Given the description of an element on the screen output the (x, y) to click on. 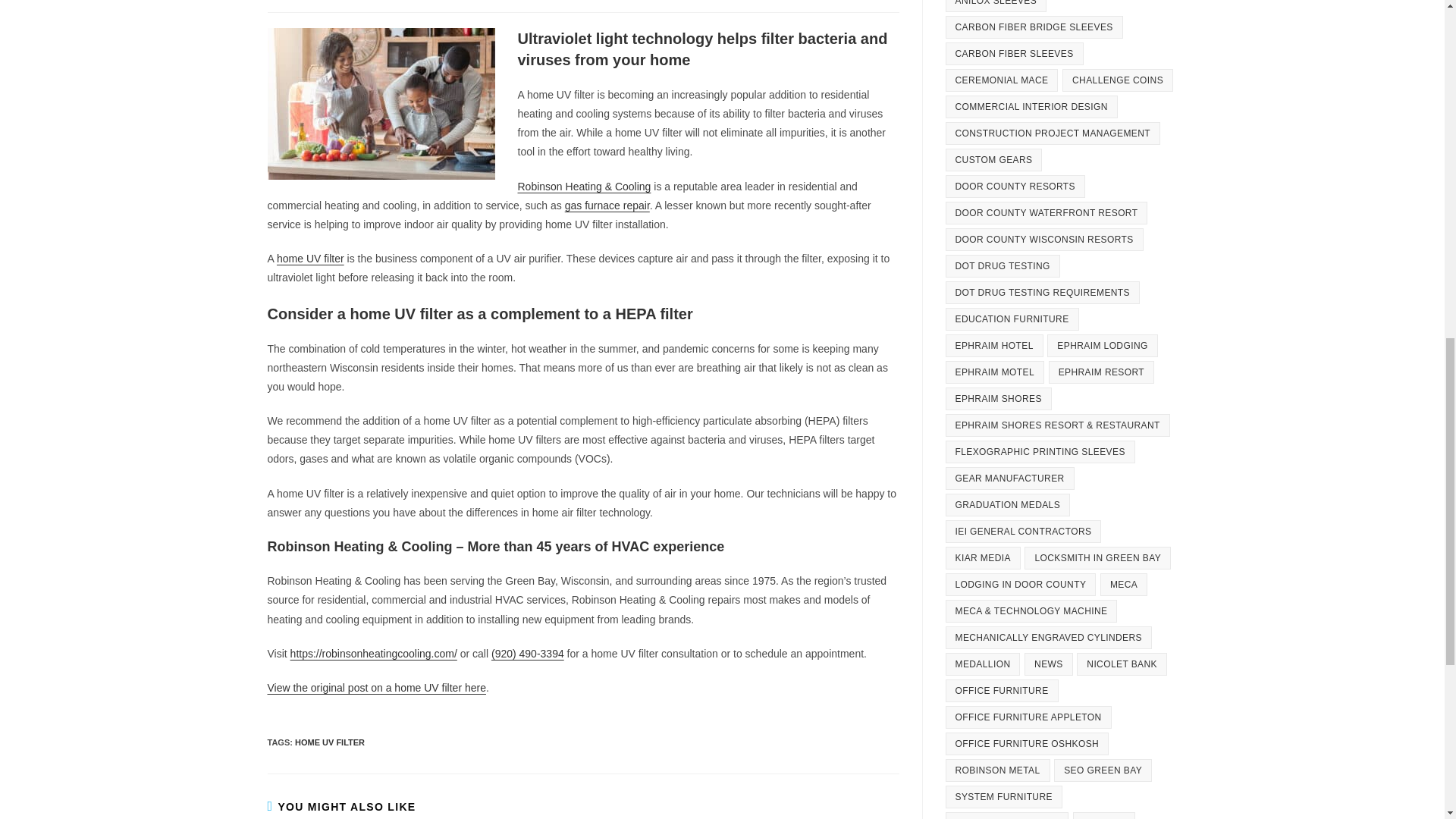
home UV filter (309, 258)
gas furnace repair (606, 205)
View the original post on a home UV filter here (375, 687)
HOME UV FILTER (330, 741)
